Given the description of an element on the screen output the (x, y) to click on. 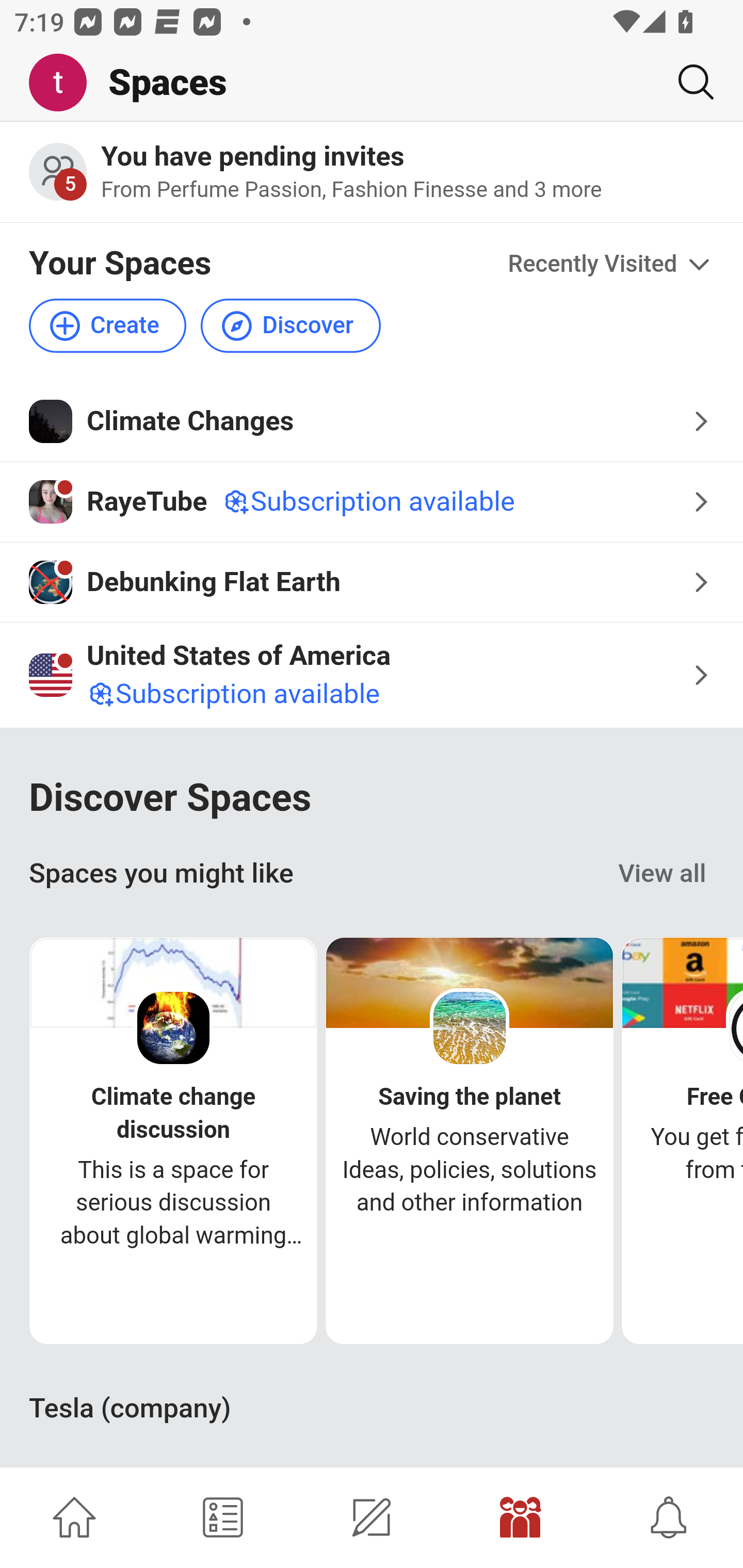
Me Spaces Search (371, 82)
Me (64, 83)
Search (688, 82)
Recently Visited (610, 264)
Create (107, 324)
Discover (289, 324)
Icon for Climate Changes Climate Changes (371, 421)
Icon for RayeTube RayeTube Subscription available (371, 502)
Icon for Debunking Flat Earth Debunking Flat Earth (371, 582)
View all (662, 873)
Climate change discussion (173, 1112)
Saving the planet (469, 1097)
